Given the description of an element on the screen output the (x, y) to click on. 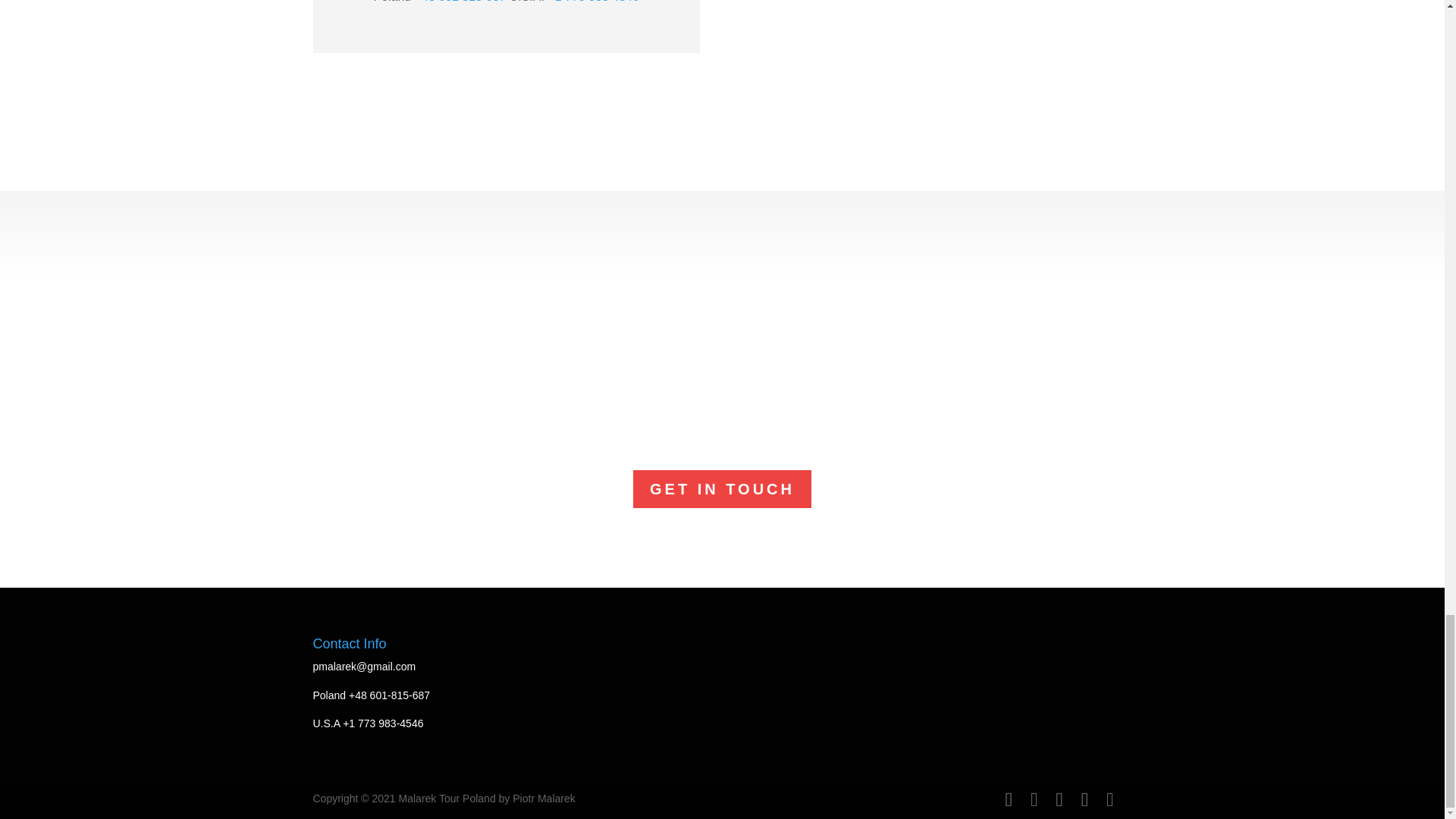
GET IN TOUCH (721, 488)
